Given the description of an element on the screen output the (x, y) to click on. 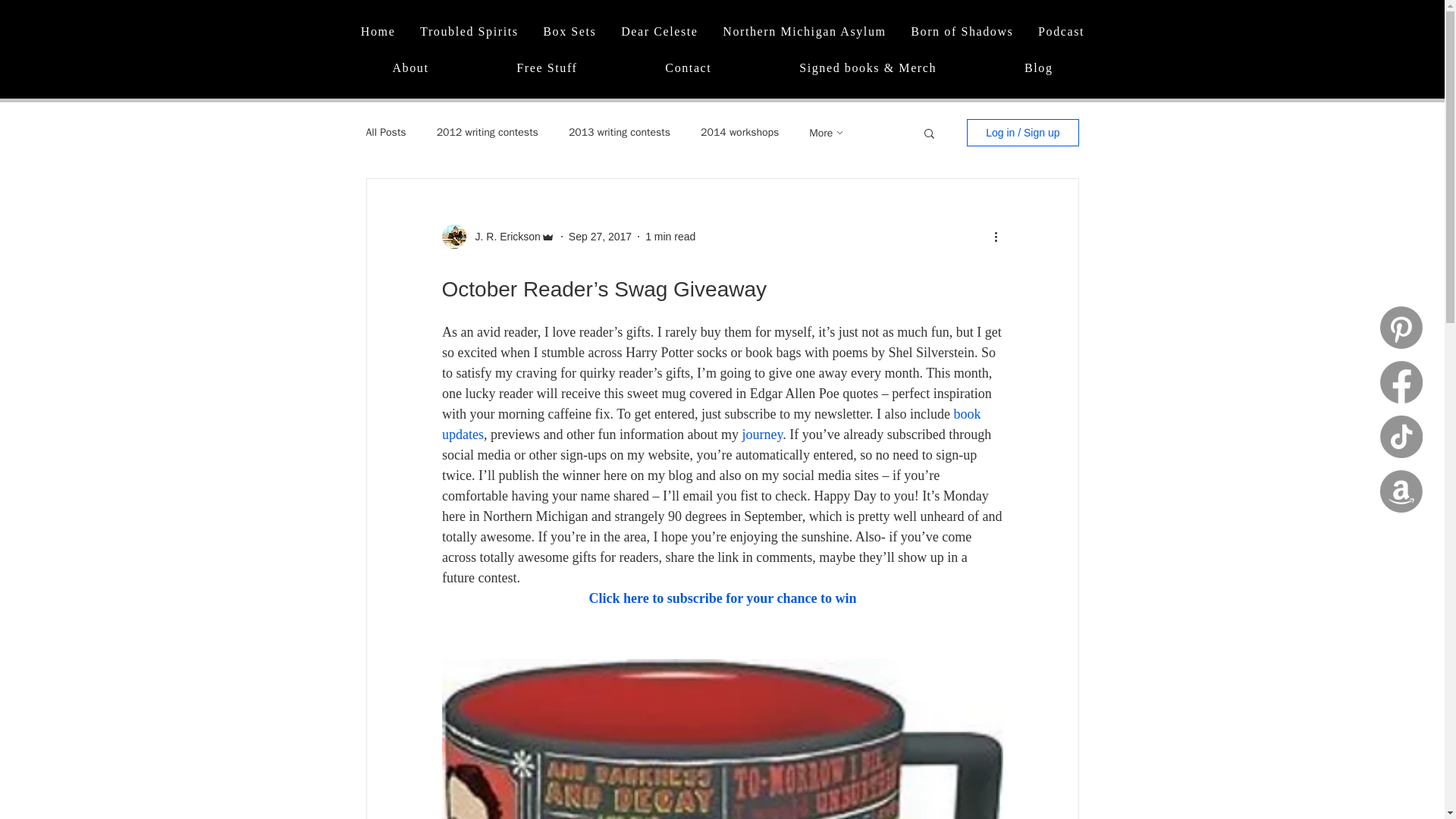
Born of Shadows (962, 32)
2012 writing contests (487, 132)
Box Sets (569, 32)
Sep 27, 2017 (600, 236)
Click here to subscribe for your chance to win (722, 598)
Home (378, 32)
All Posts (385, 132)
journey (762, 434)
Free Stuff (546, 69)
Contact (688, 69)
